Given the description of an element on the screen output the (x, y) to click on. 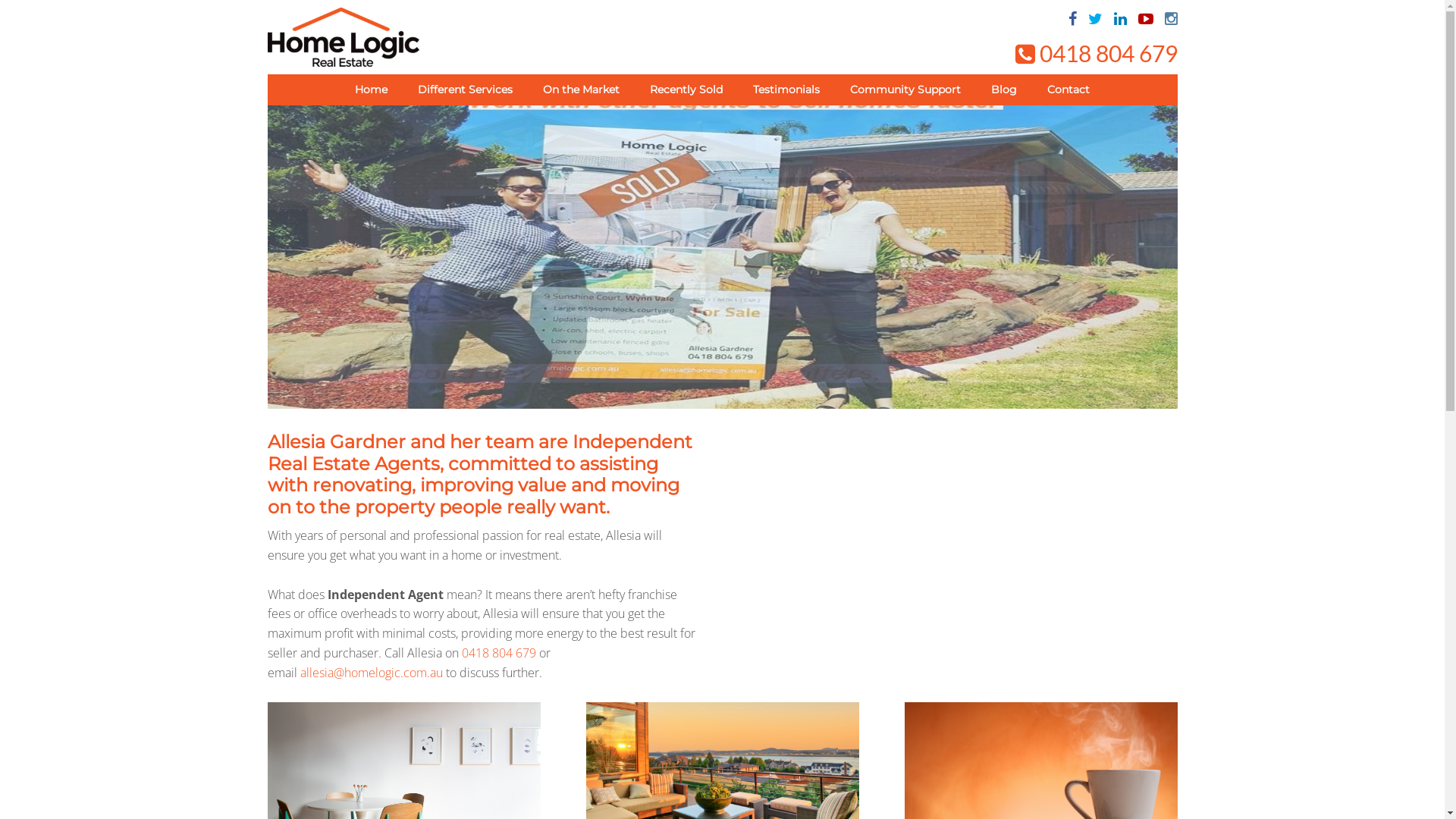
allesia@homelogic.com.au Element type: text (371, 672)
Home Element type: text (370, 89)
Contact Element type: text (1068, 89)
Different Services Element type: text (464, 89)
Community Support Element type: text (904, 89)
0418 804 679 Element type: text (498, 652)
Testimonials Element type: text (785, 89)
Recently Sold Element type: text (685, 89)
Blog Element type: text (1003, 89)
On the Market Element type: text (580, 89)
